Given the description of an element on the screen output the (x, y) to click on. 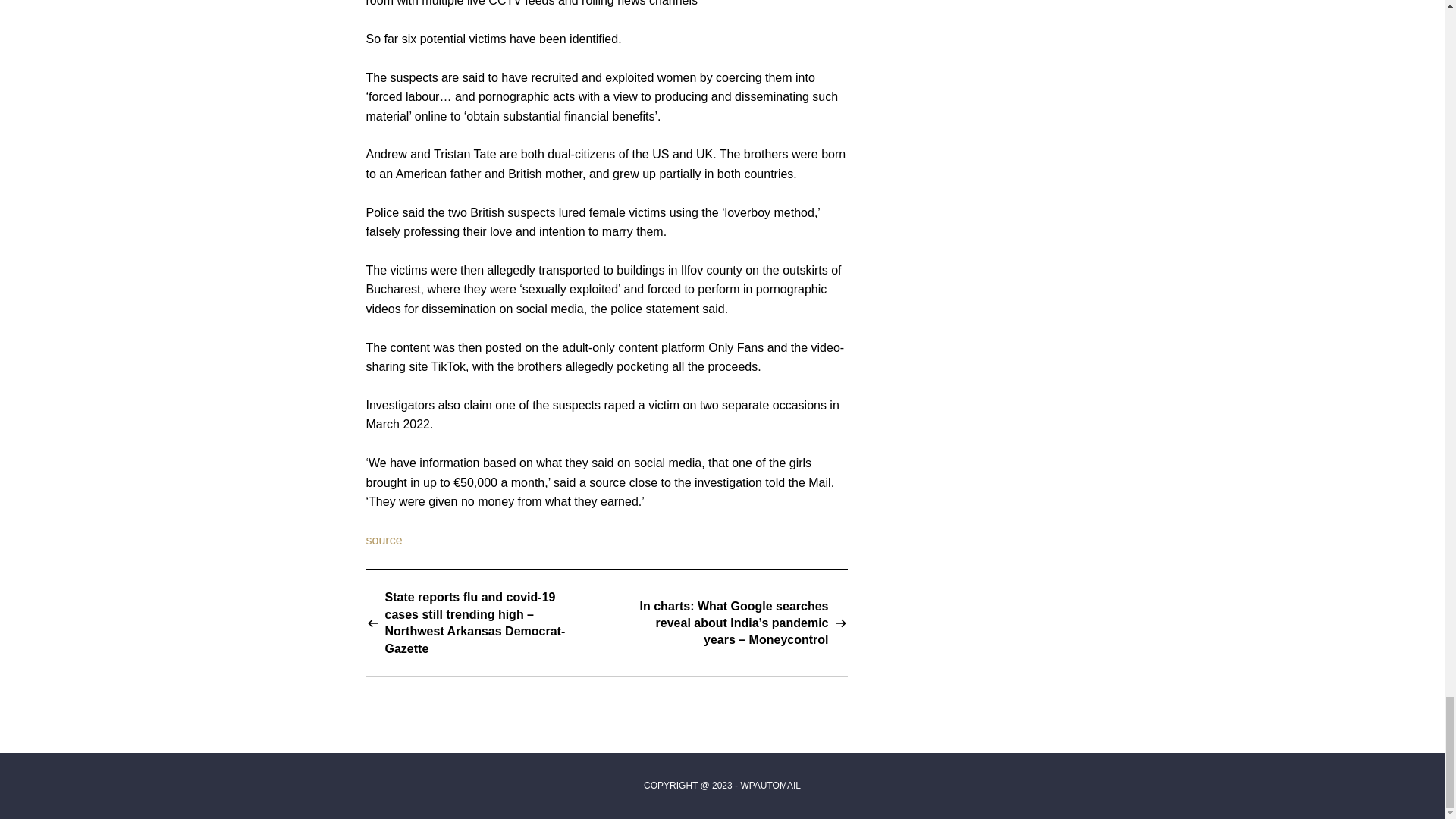
source (383, 540)
